Given the description of an element on the screen output the (x, y) to click on. 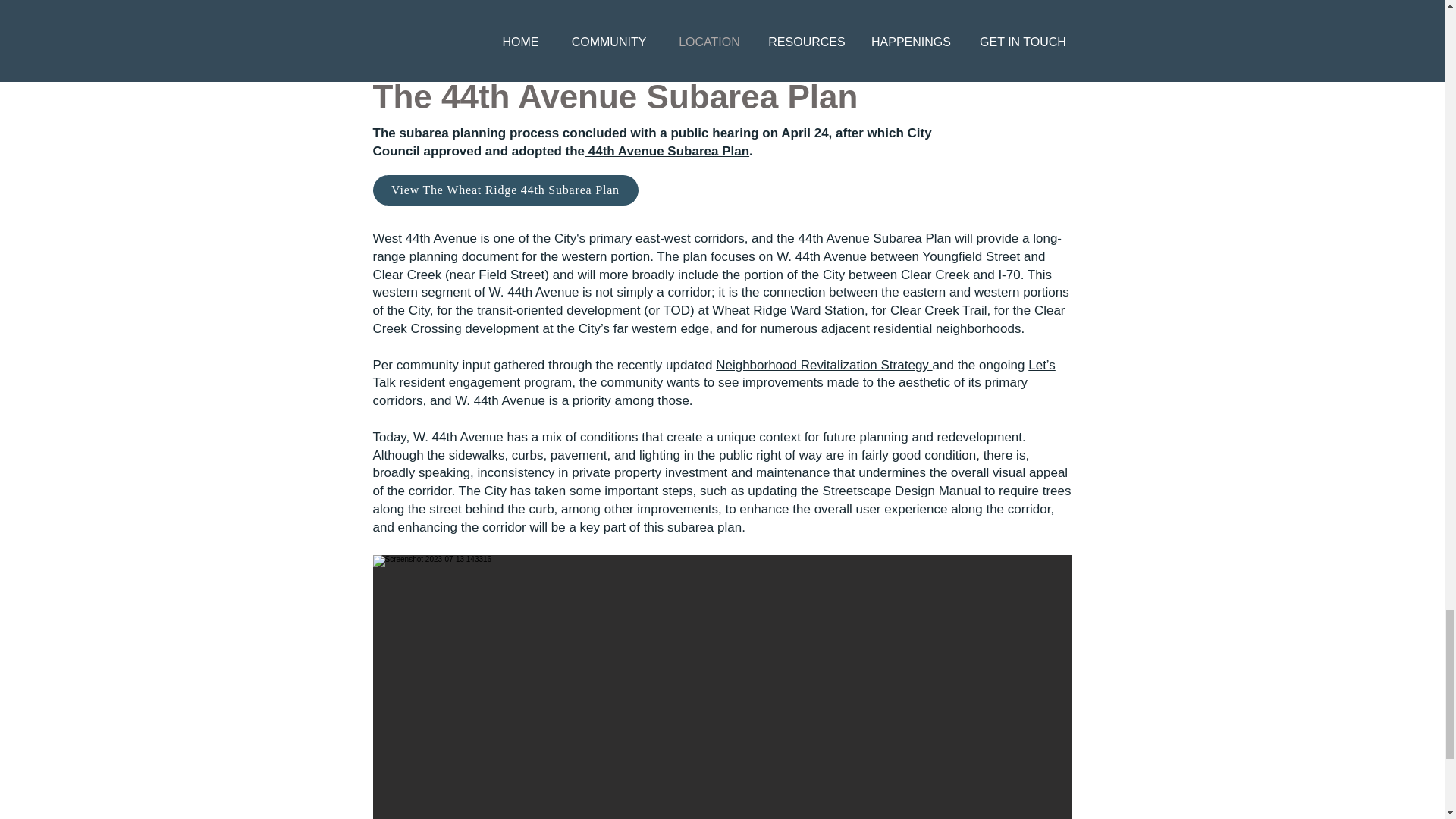
View The Wheat Ridge 44th Subarea Plan (505, 190)
Neighborhood Revitalization Strategy  (823, 364)
44th Avenue Subarea Plan (667, 151)
